Given the description of an element on the screen output the (x, y) to click on. 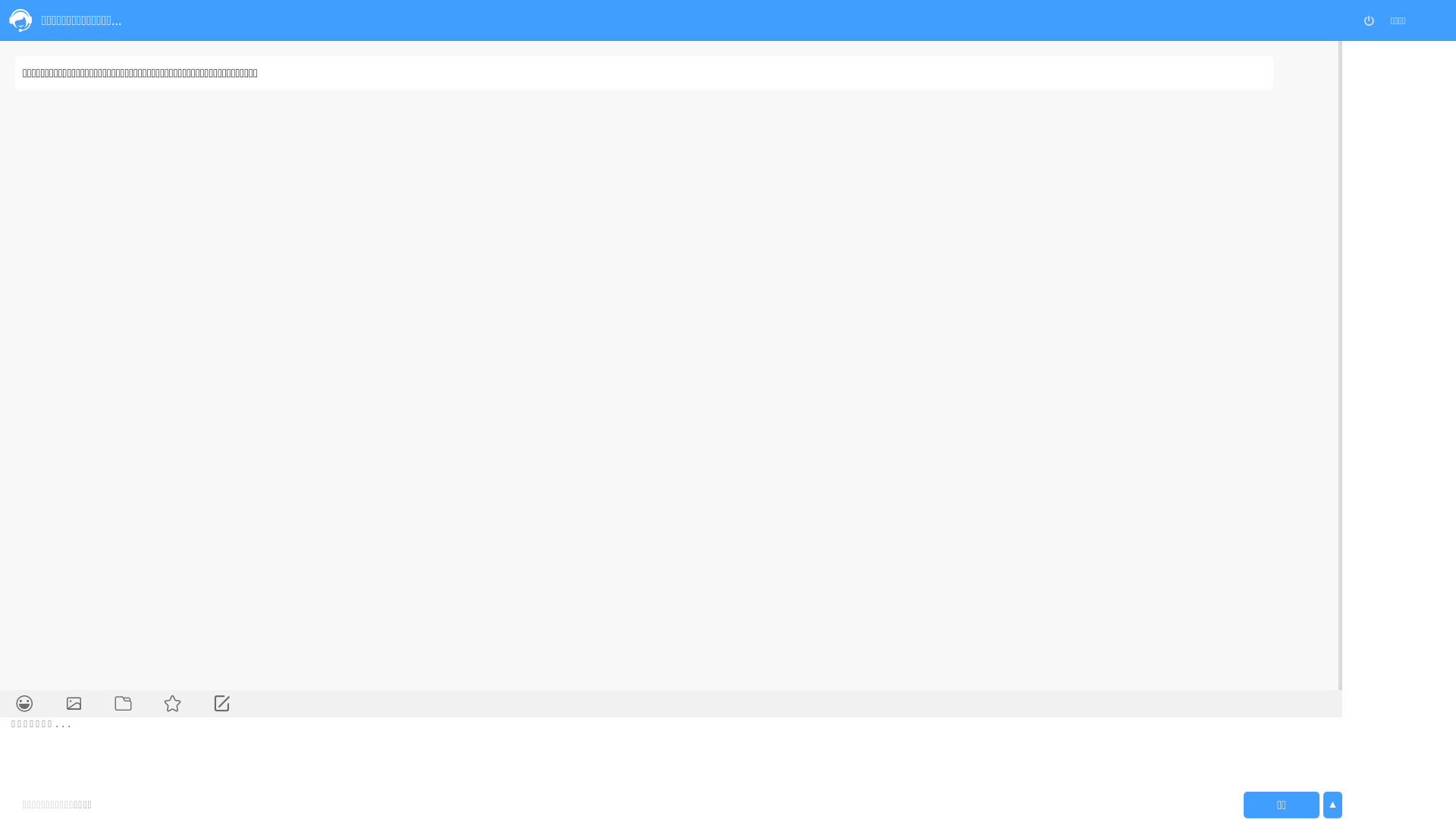
v-line Element type: text (971, 504)
